Given the description of an element on the screen output the (x, y) to click on. 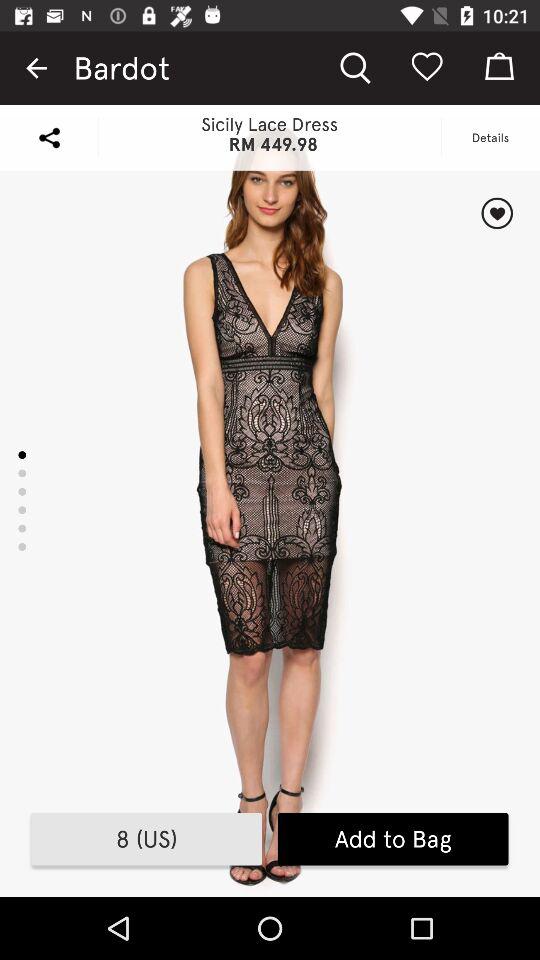
share (49, 137)
